Given the description of an element on the screen output the (x, y) to click on. 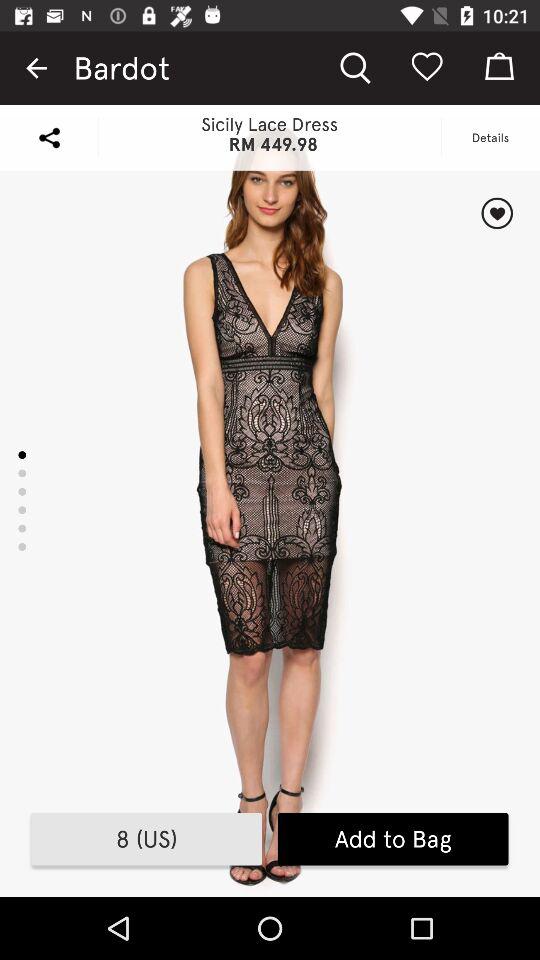
share (49, 137)
